Given the description of an element on the screen output the (x, y) to click on. 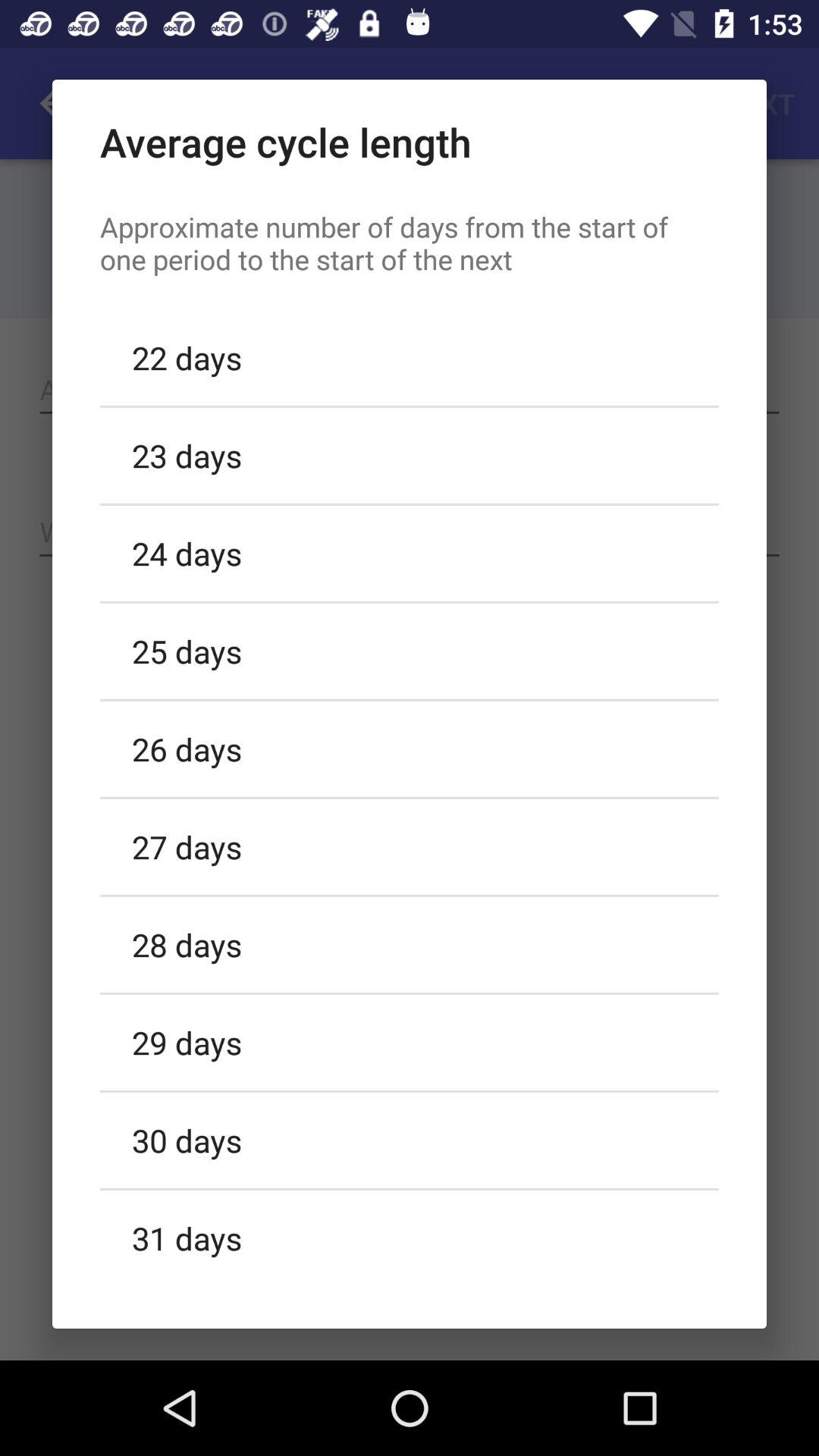
choose the 28 days item (409, 944)
